Given the description of an element on the screen output the (x, y) to click on. 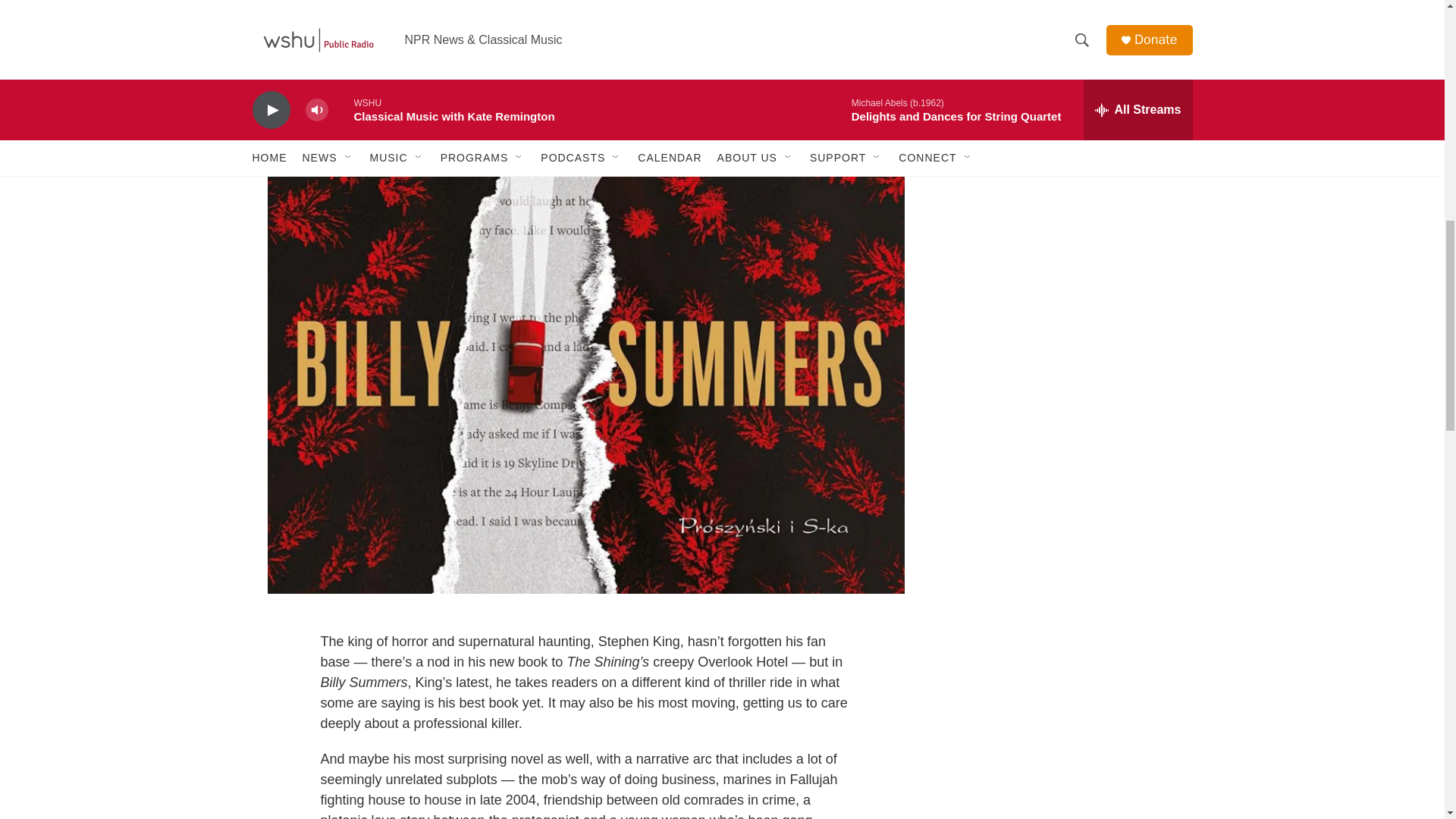
3rd party ad content (1062, 16)
